Given the description of an element on the screen output the (x, y) to click on. 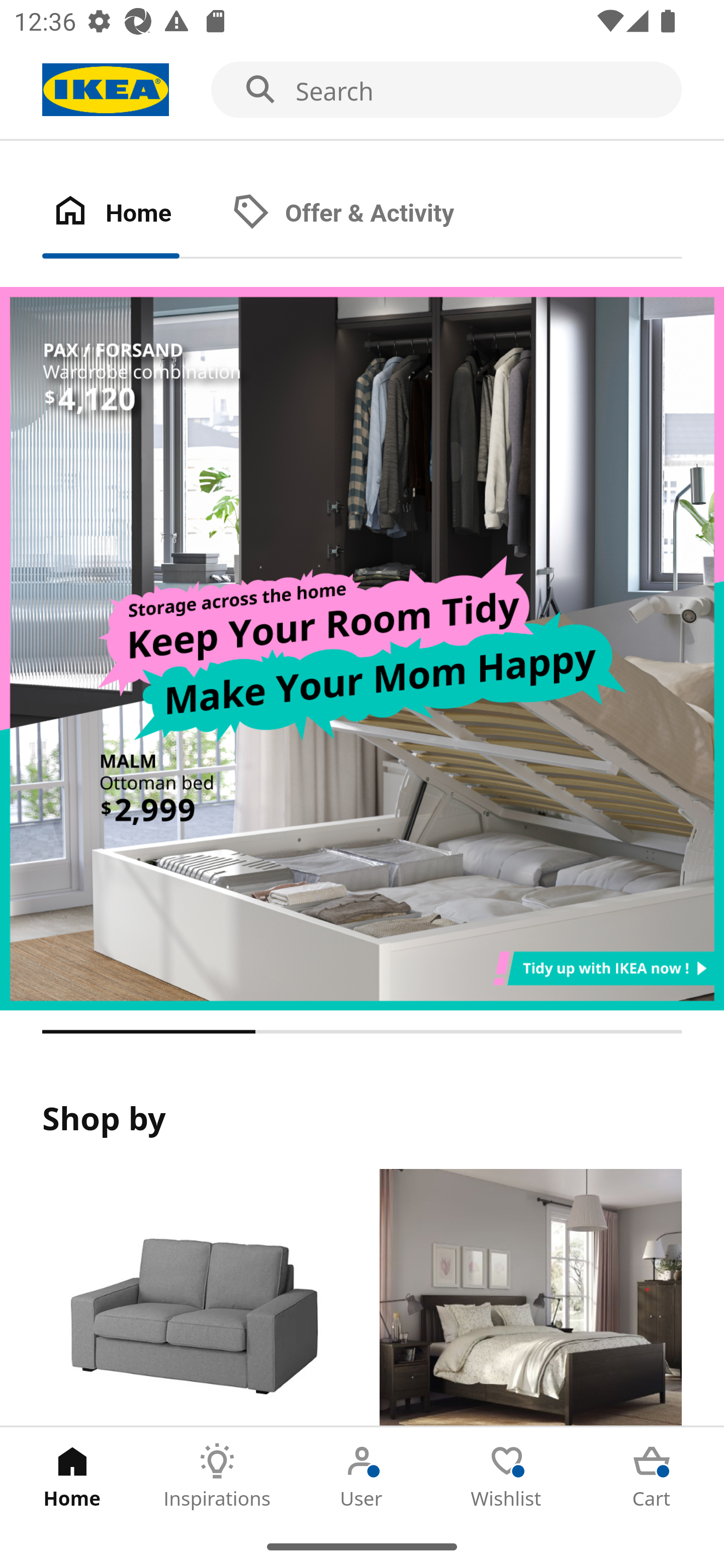
Search (361, 90)
Home
Tab 1 of 2 (131, 213)
Offer & Activity
Tab 2 of 2 (363, 213)
Products (192, 1297)
Rooms (530, 1297)
Home
Tab 1 of 5 (72, 1476)
Inspirations
Tab 2 of 5 (216, 1476)
User
Tab 3 of 5 (361, 1476)
Wishlist
Tab 4 of 5 (506, 1476)
Cart
Tab 5 of 5 (651, 1476)
